Given the description of an element on the screen output the (x, y) to click on. 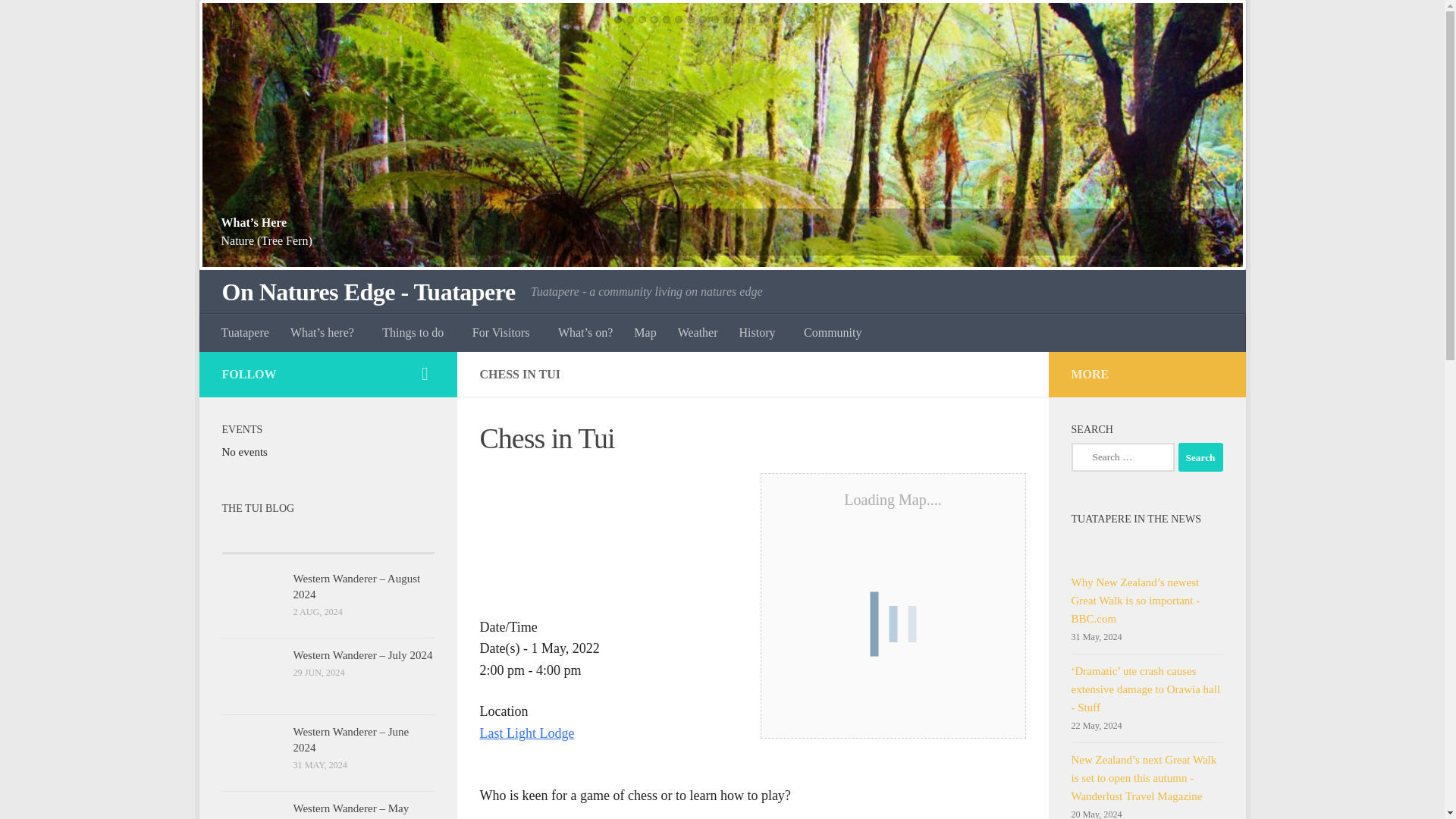
4 (654, 19)
Search (1200, 457)
6 (678, 19)
1 (617, 19)
2 (629, 19)
5 (665, 19)
Search (1200, 457)
3 (642, 19)
